Given the description of an element on the screen output the (x, y) to click on. 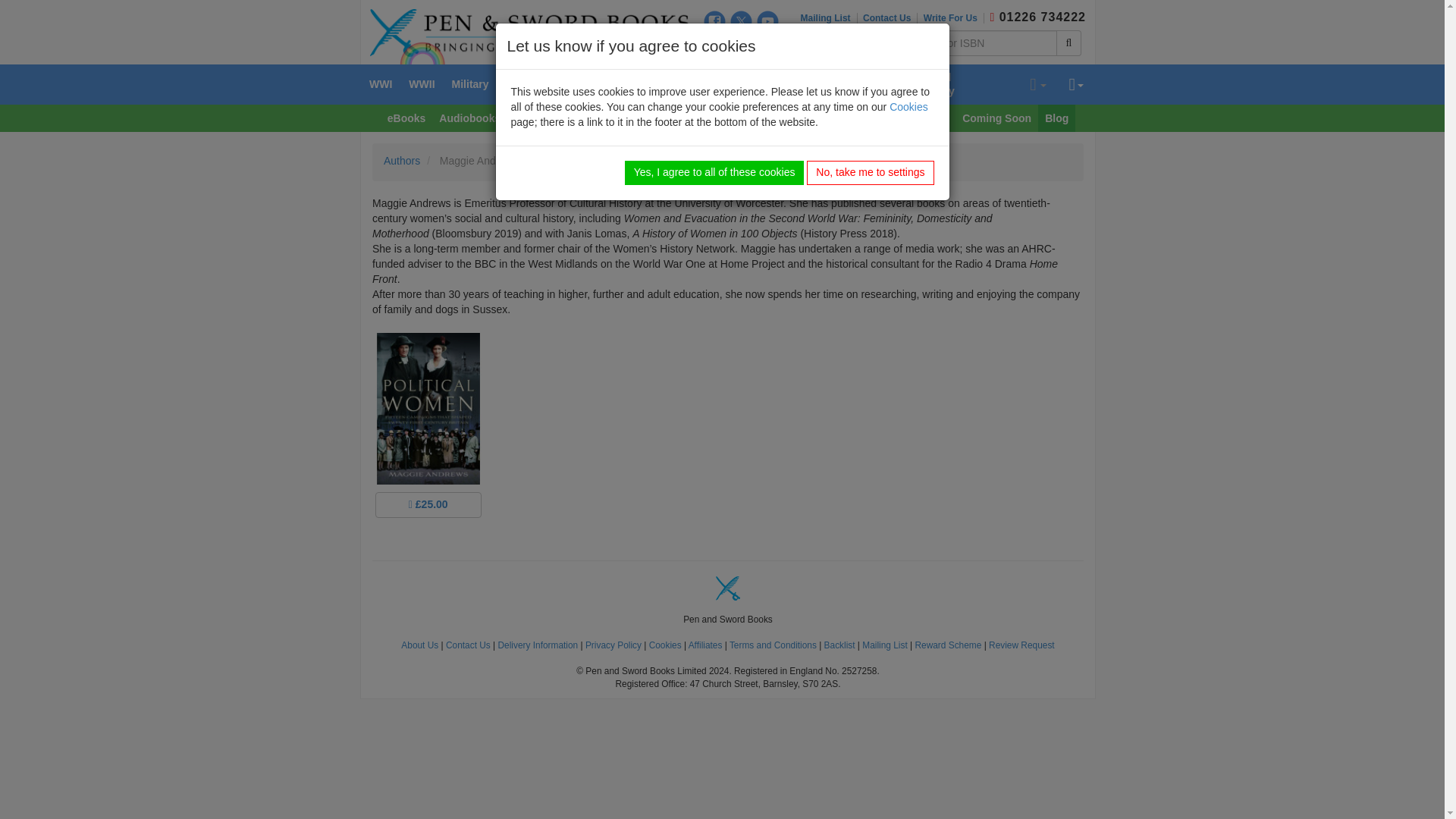
Your basket is empty (1037, 84)
Instagram (714, 45)
YouTube (767, 21)
Facebook (714, 21)
Write For Us (953, 18)
TikTok (741, 45)
Mailing List (828, 18)
X (741, 21)
Contact Us (890, 18)
NetGalley (767, 45)
